Given the description of an element on the screen output the (x, y) to click on. 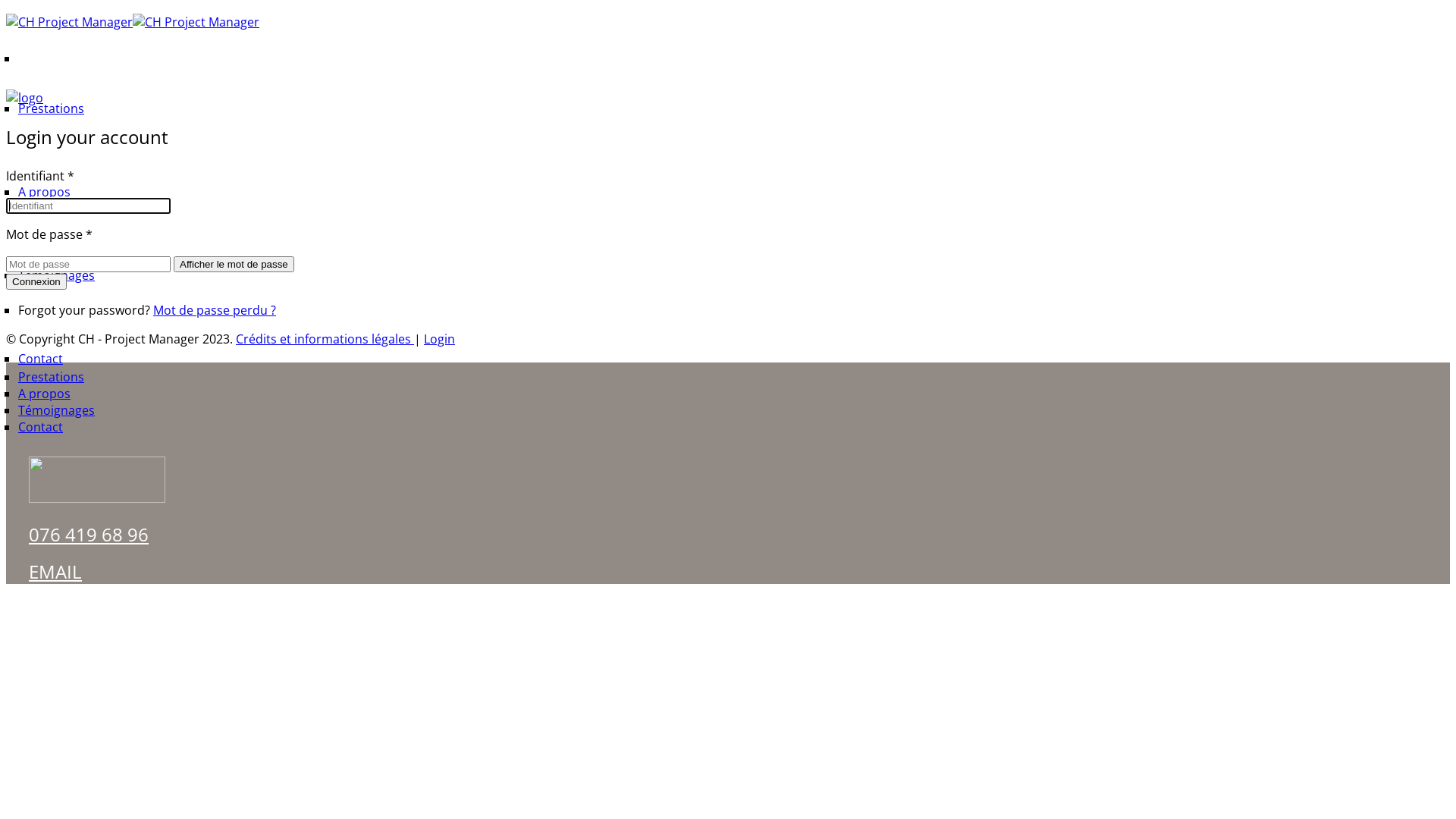
EMAIL Element type: text (54, 570)
Mot de passe perdu ? Element type: text (214, 309)
Login Element type: text (439, 338)
A propos Element type: text (44, 191)
Contact Element type: text (40, 426)
Prestations Element type: text (51, 376)
Prestations Element type: text (51, 108)
Afficher le mot de passe Element type: text (233, 264)
Contact Element type: text (40, 358)
A propos Element type: text (44, 393)
Connexion Element type: text (36, 281)
076 419 68 96 Element type: text (88, 533)
